Given the description of an element on the screen output the (x, y) to click on. 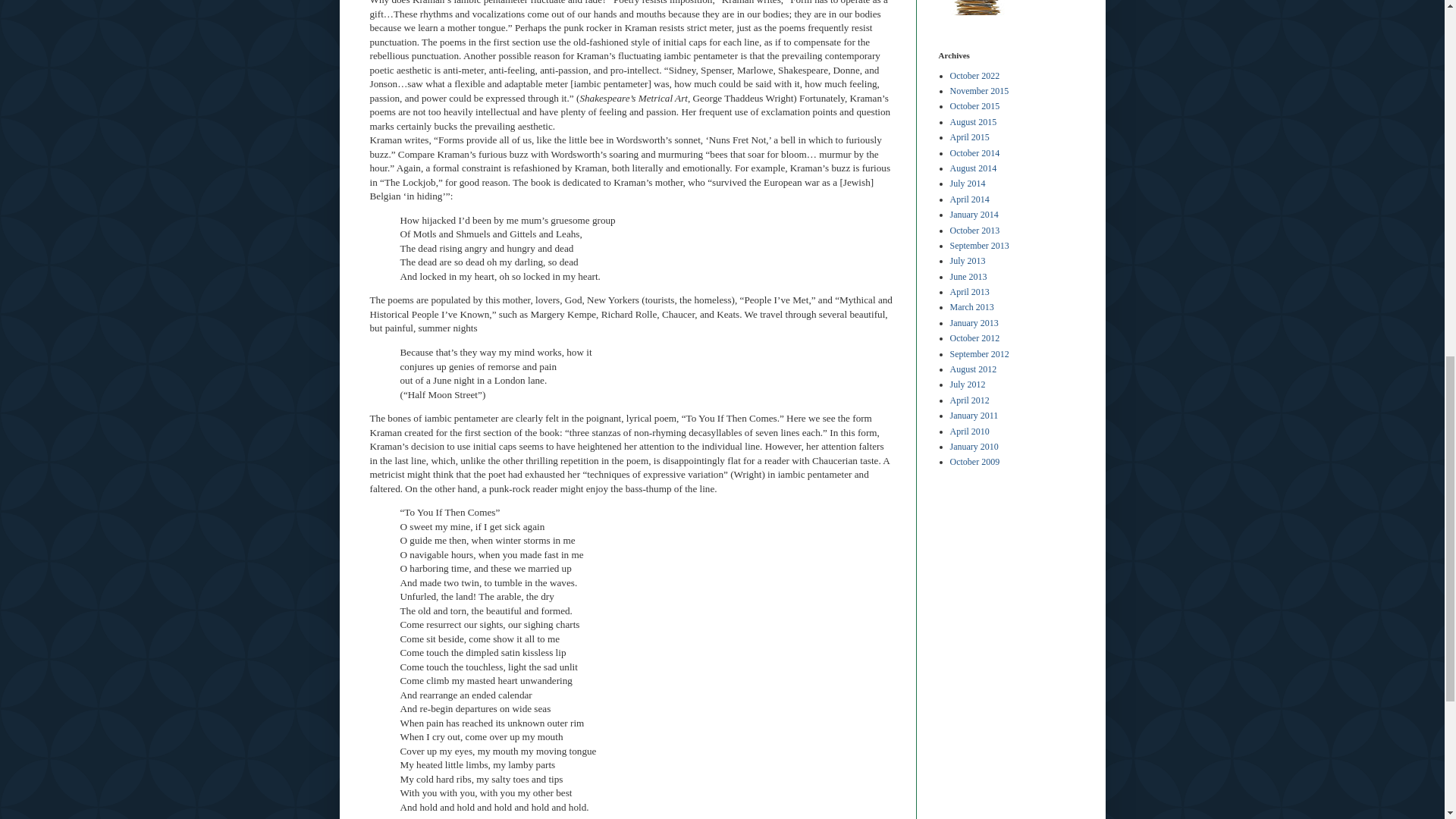
October 2022 (973, 75)
September 2013 (979, 245)
January 2014 (973, 214)
January 2011 (973, 415)
October 2014 (973, 153)
September 2012 (979, 353)
April 2015 (968, 136)
January 2010 (973, 446)
April 2014 (968, 199)
March 2013 (970, 307)
